Given the description of an element on the screen output the (x, y) to click on. 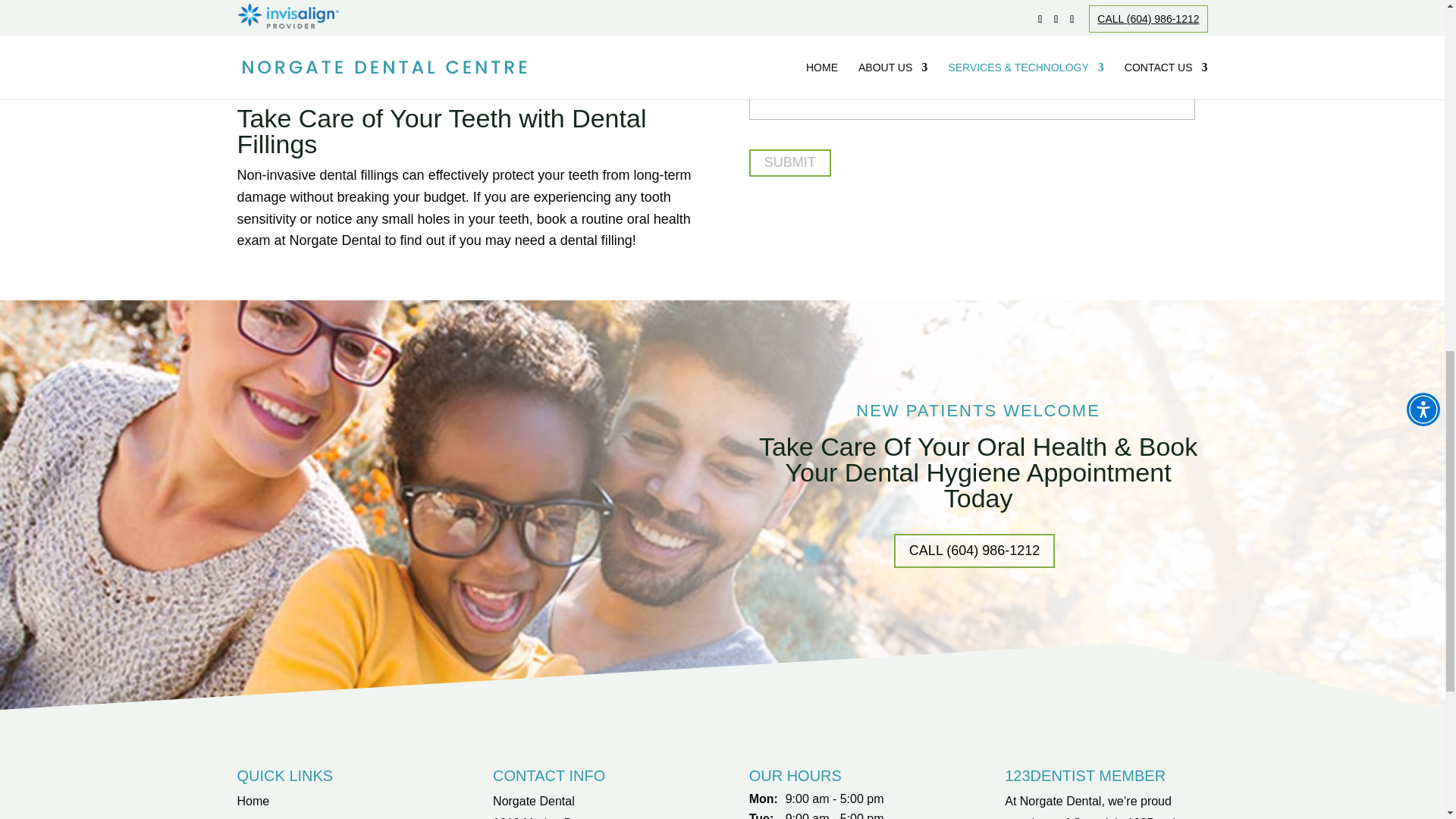
Submit (790, 162)
